Given the description of an element on the screen output the (x, y) to click on. 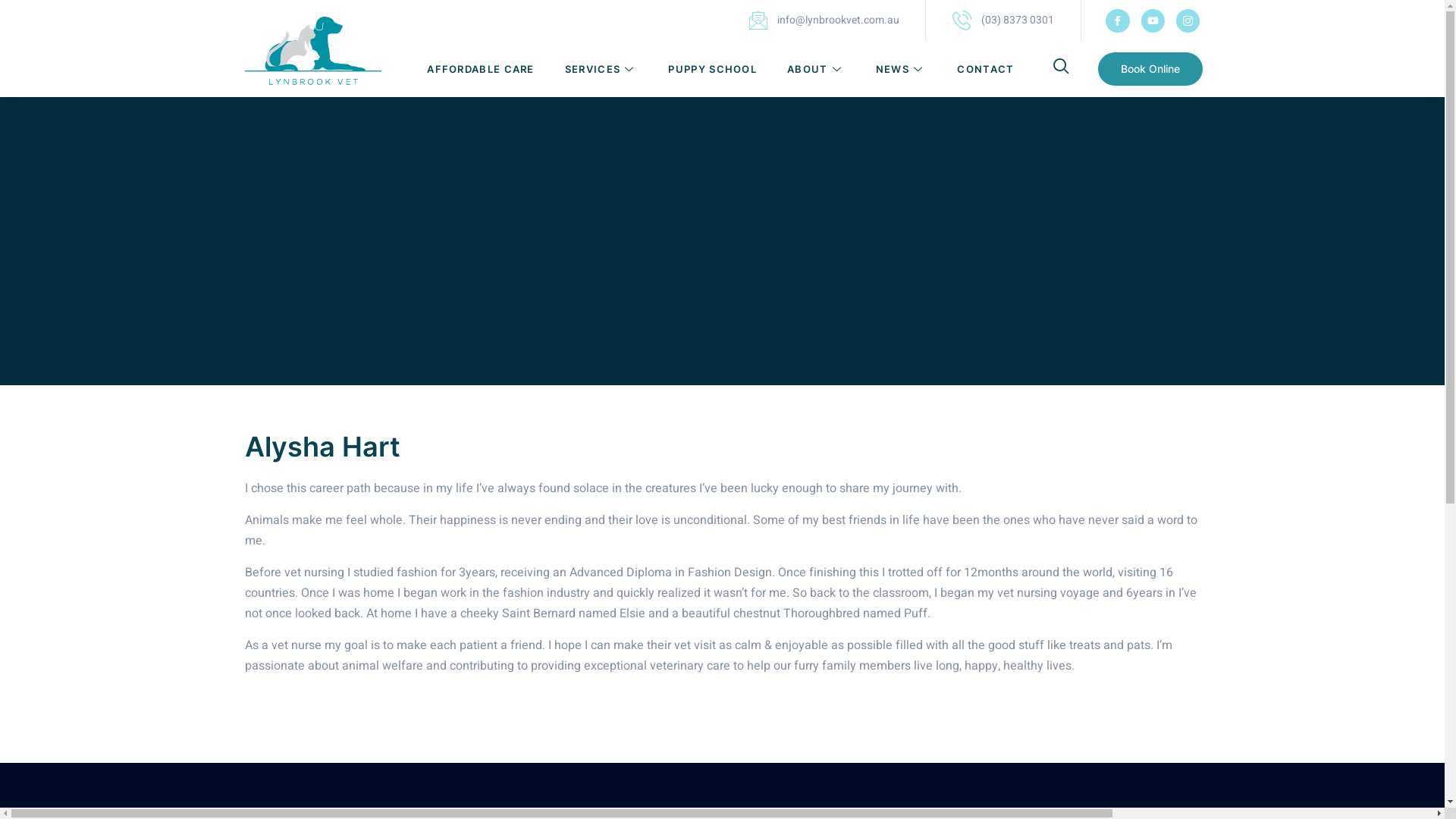
SERVICES Element type: text (601, 68)
info@lynbrookvet.com.au Element type: text (823, 20)
ABOUT Element type: text (815, 68)
CONTACT Element type: text (985, 68)
PUPPY SCHOOL Element type: text (711, 68)
Book Online Element type: text (1150, 68)
AFFORDABLE CARE Element type: text (480, 68)
(03) 8373 0301 Element type: text (1003, 20)
NEWS Element type: text (901, 68)
